Given the description of an element on the screen output the (x, y) to click on. 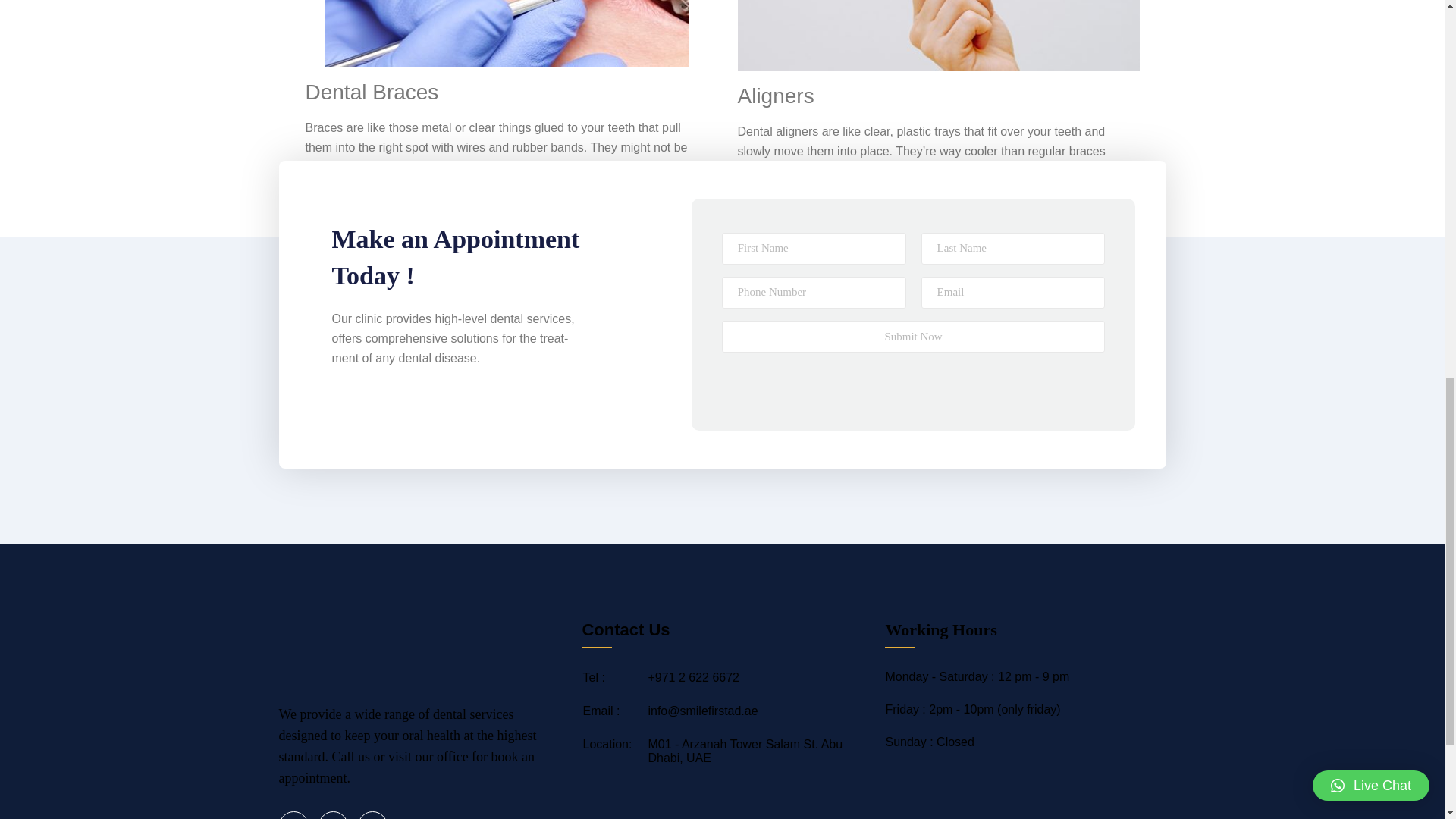
Submit Now (913, 336)
